Given the description of an element on the screen output the (x, y) to click on. 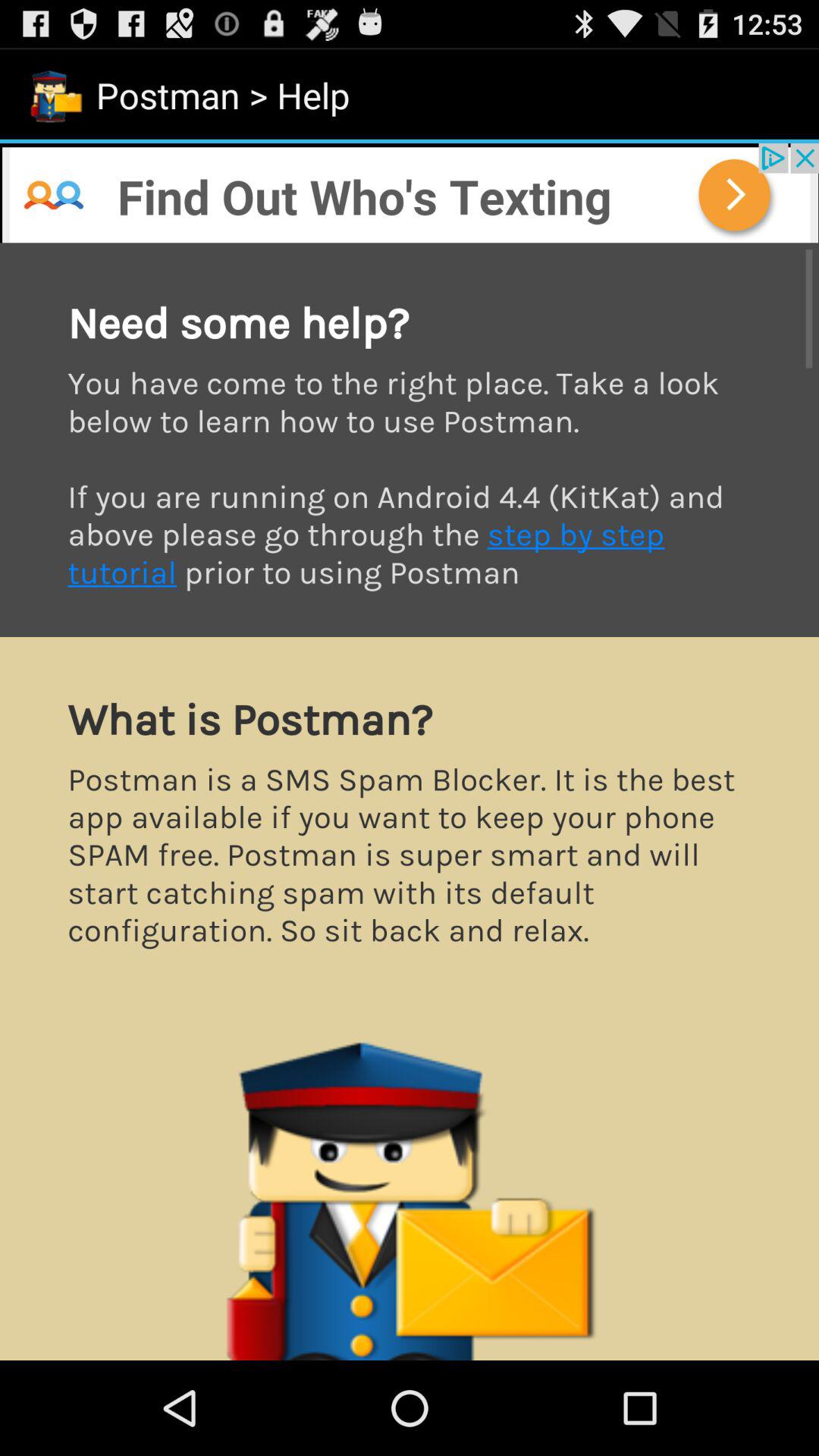
advertisement page (409, 192)
